Given the description of an element on the screen output the (x, y) to click on. 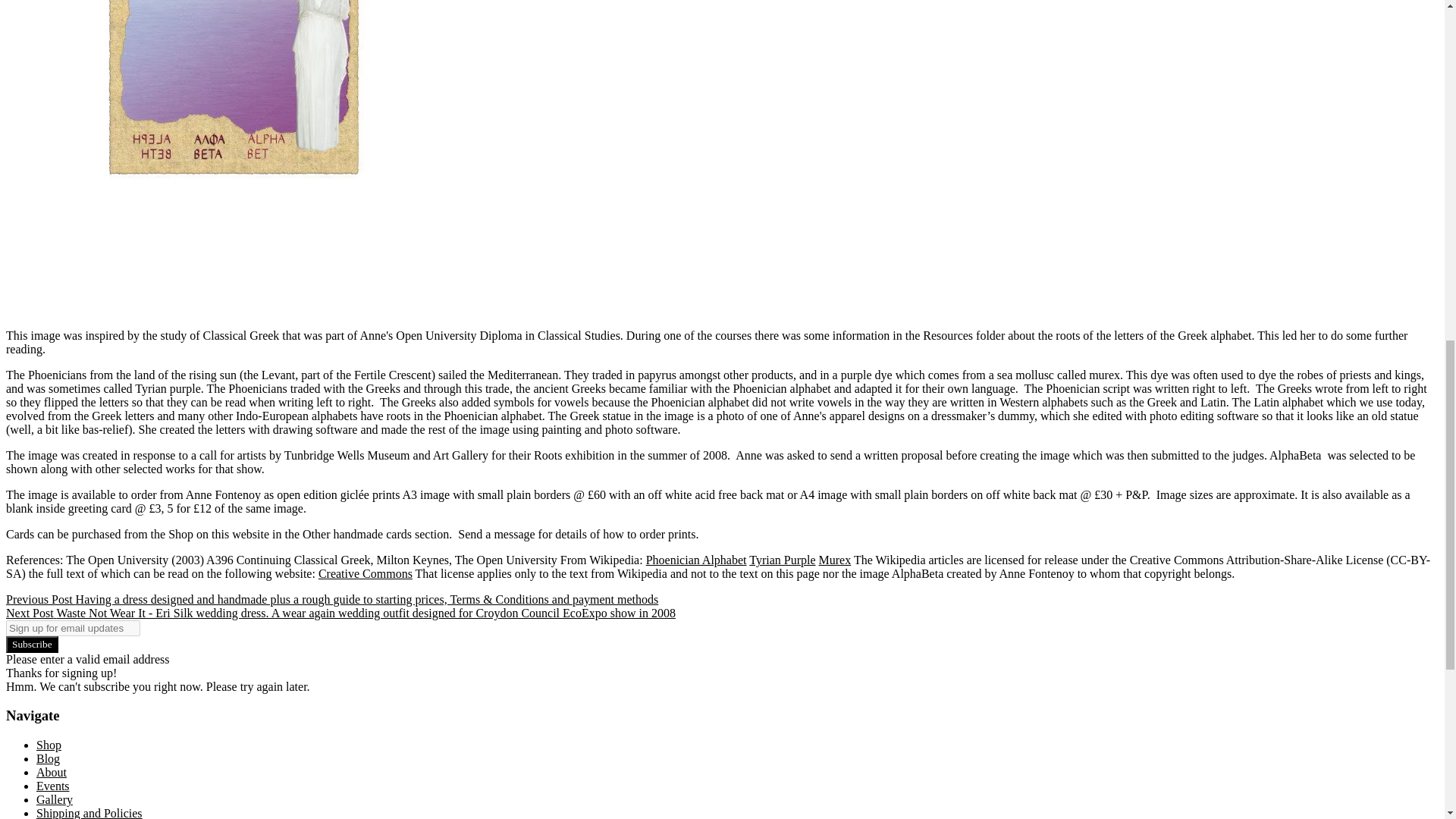
Subscribe (31, 644)
Phoenician Alphabet (696, 559)
Tyrian Purple (782, 559)
Creative Commons (365, 573)
Shipping and Policies (89, 812)
Gallery (54, 799)
About (51, 771)
Events (52, 785)
Blog (47, 758)
Murex (834, 559)
